Given the description of an element on the screen output the (x, y) to click on. 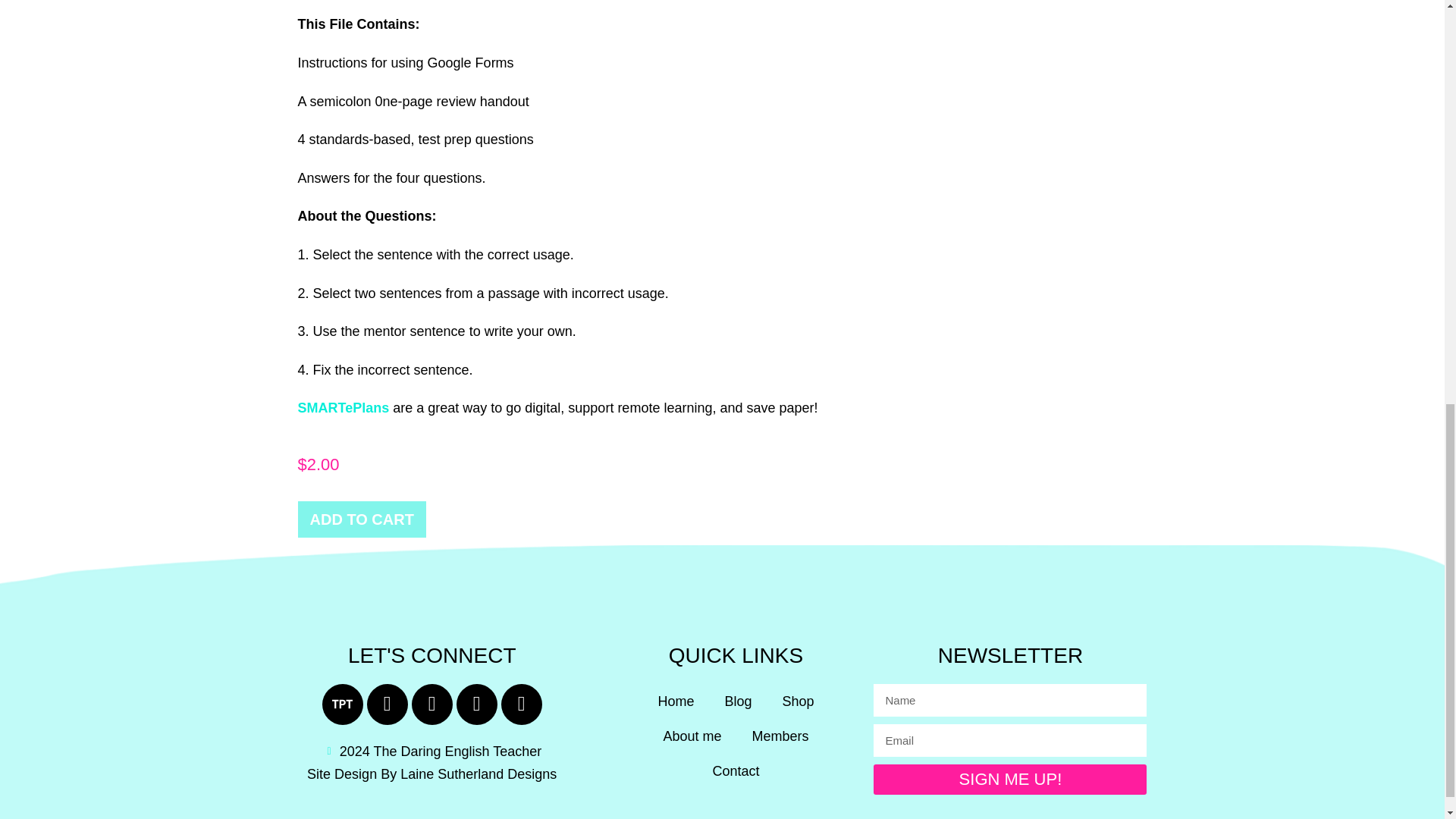
Home (675, 701)
SMARTePlans (342, 407)
ADD TO CART (361, 519)
Shop (797, 701)
Contact (735, 770)
About me (691, 736)
Blog (738, 701)
Site Design By Laine Sutherland Designs (431, 774)
Members (780, 736)
